Given the description of an element on the screen output the (x, y) to click on. 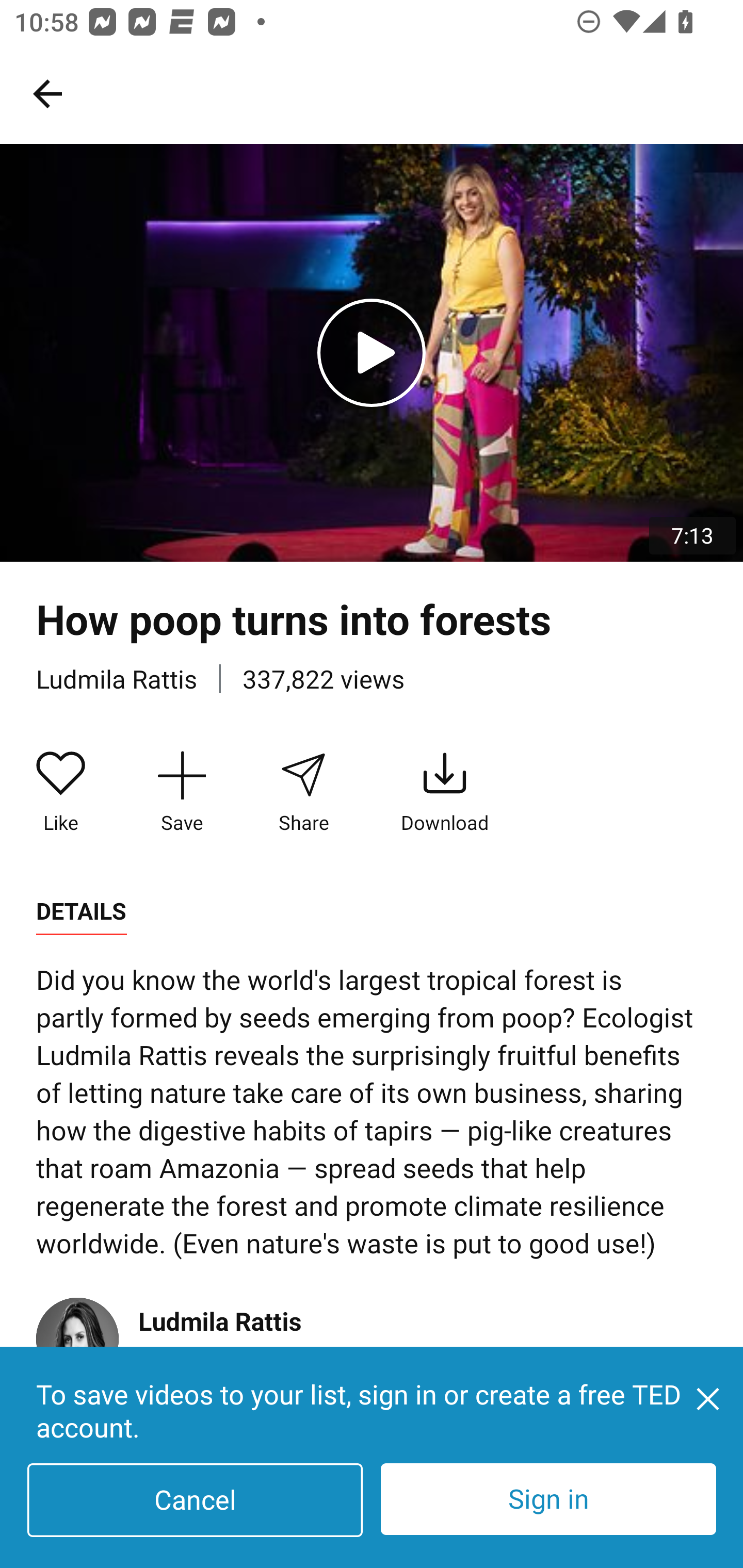
Home, back (47, 92)
Like (60, 793)
Save (181, 793)
Share (302, 793)
Download (444, 793)
DETAILS (80, 911)
Cancel (194, 1499)
Sign in (548, 1498)
